Given the description of an element on the screen output the (x, y) to click on. 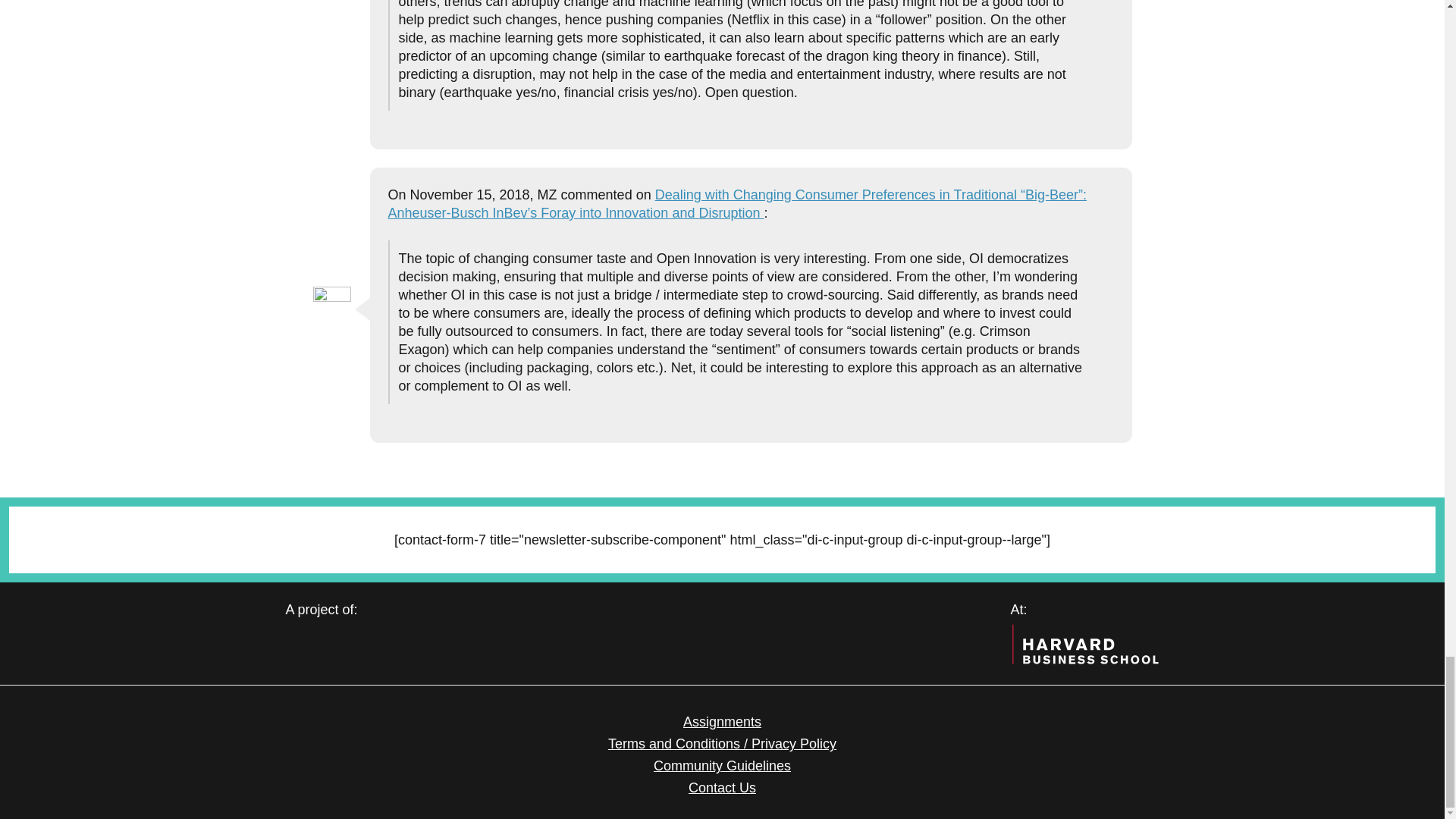
Contact Us (721, 787)
Community Guidelines (721, 765)
Assignments (721, 721)
